Given the description of an element on the screen output the (x, y) to click on. 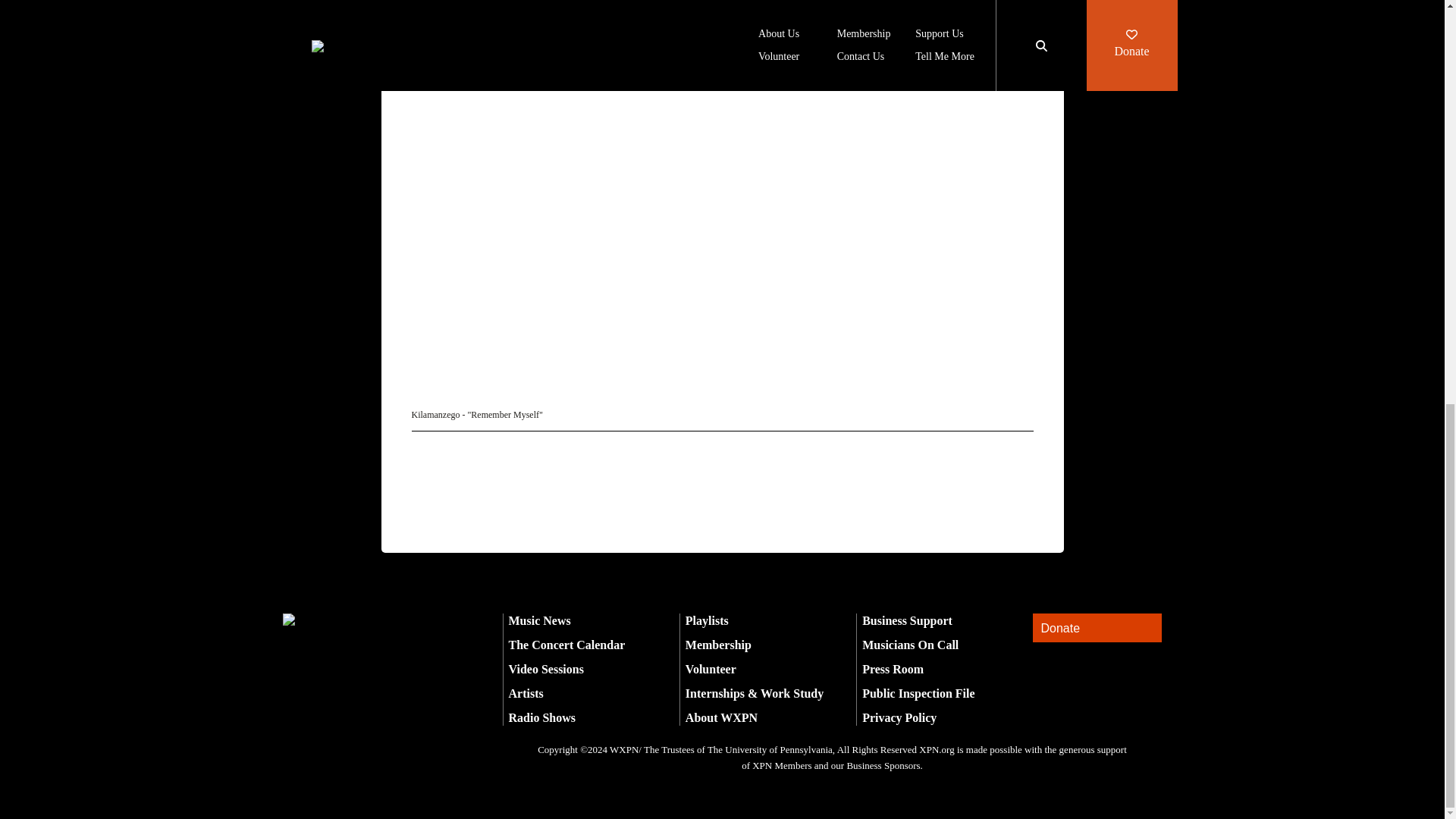
Radio Shows (541, 717)
Playlists (707, 620)
Membership (718, 644)
WXPN Concerts and Events page (677, 20)
Business Support (906, 620)
Musicians On Call (909, 644)
Volunteer (710, 668)
Artists (525, 693)
About WXPN (721, 717)
Music News (539, 620)
Donate (1096, 627)
Video Sessions (545, 668)
Public Inspection File (917, 693)
Privacy Policy (898, 717)
The Concert Calendar (566, 644)
